Given the description of an element on the screen output the (x, y) to click on. 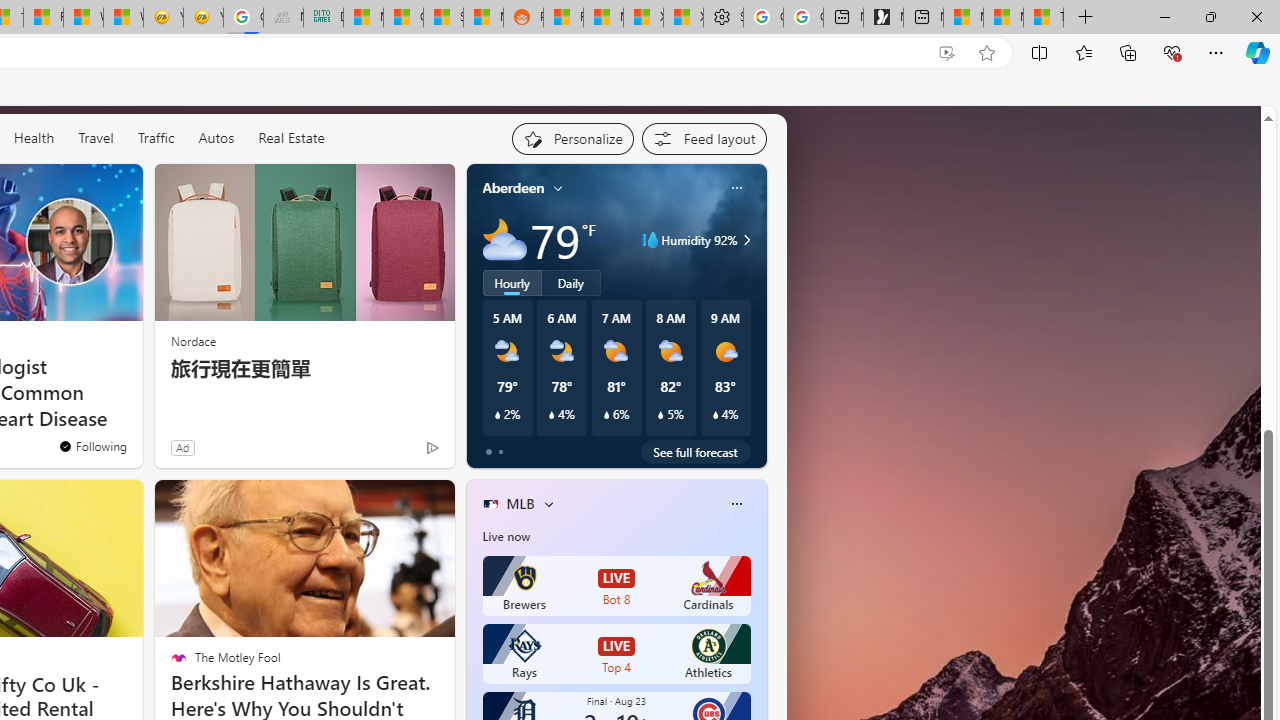
More interests (548, 503)
Mostly cloudy (504, 240)
Humidity 92% (744, 240)
Microsoft Start Gaming (883, 17)
See full forecast (695, 451)
Enhance video (946, 53)
My location (558, 187)
